Given the description of an element on the screen output the (x, y) to click on. 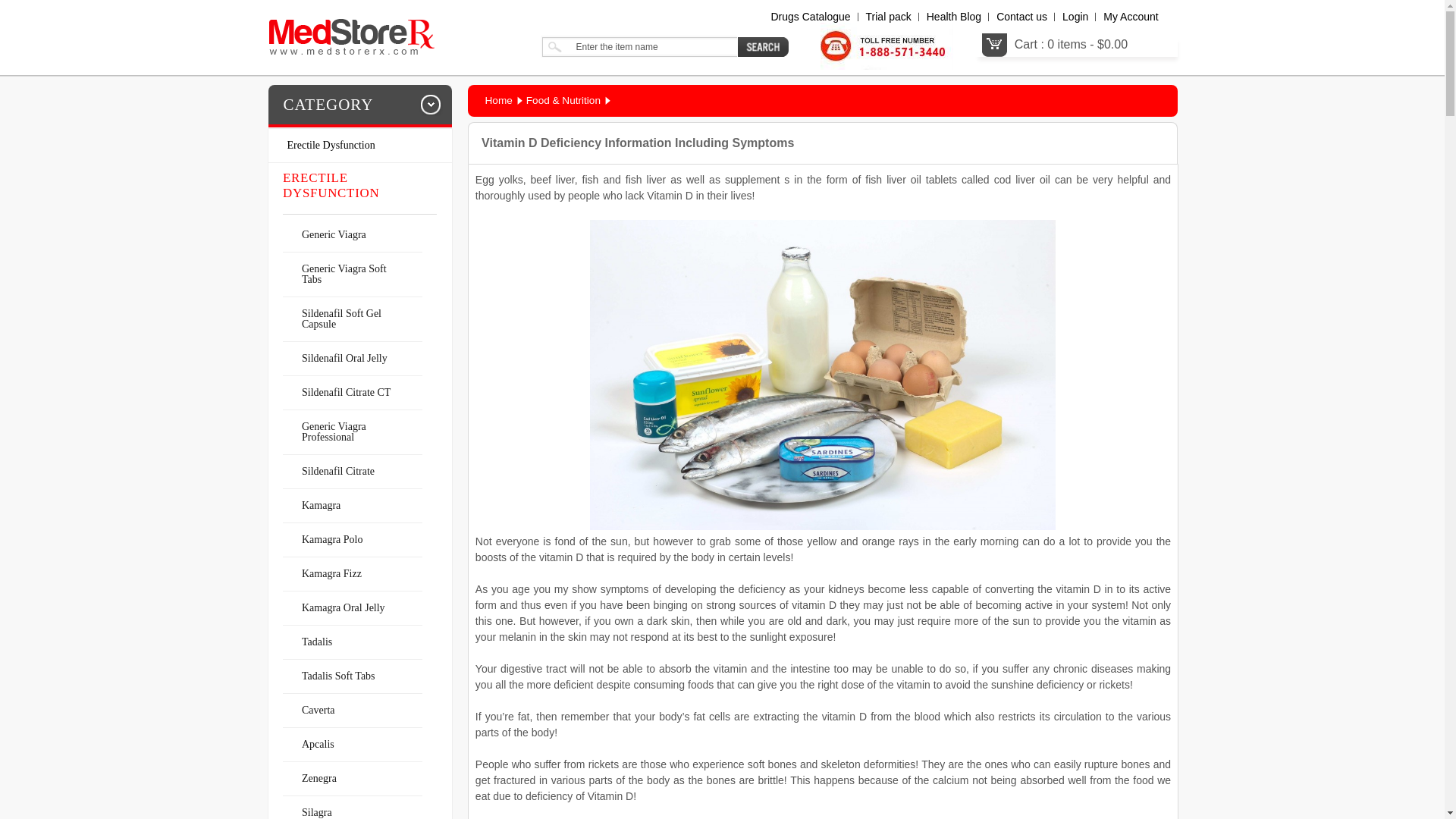
Enter the item name (638, 46)
Contact us (1020, 16)
Drugs Catalogue (810, 16)
Trial pack (888, 16)
Login (1074, 16)
Search (763, 46)
Health Blog (953, 16)
My Account (1130, 16)
